Given the description of an element on the screen output the (x, y) to click on. 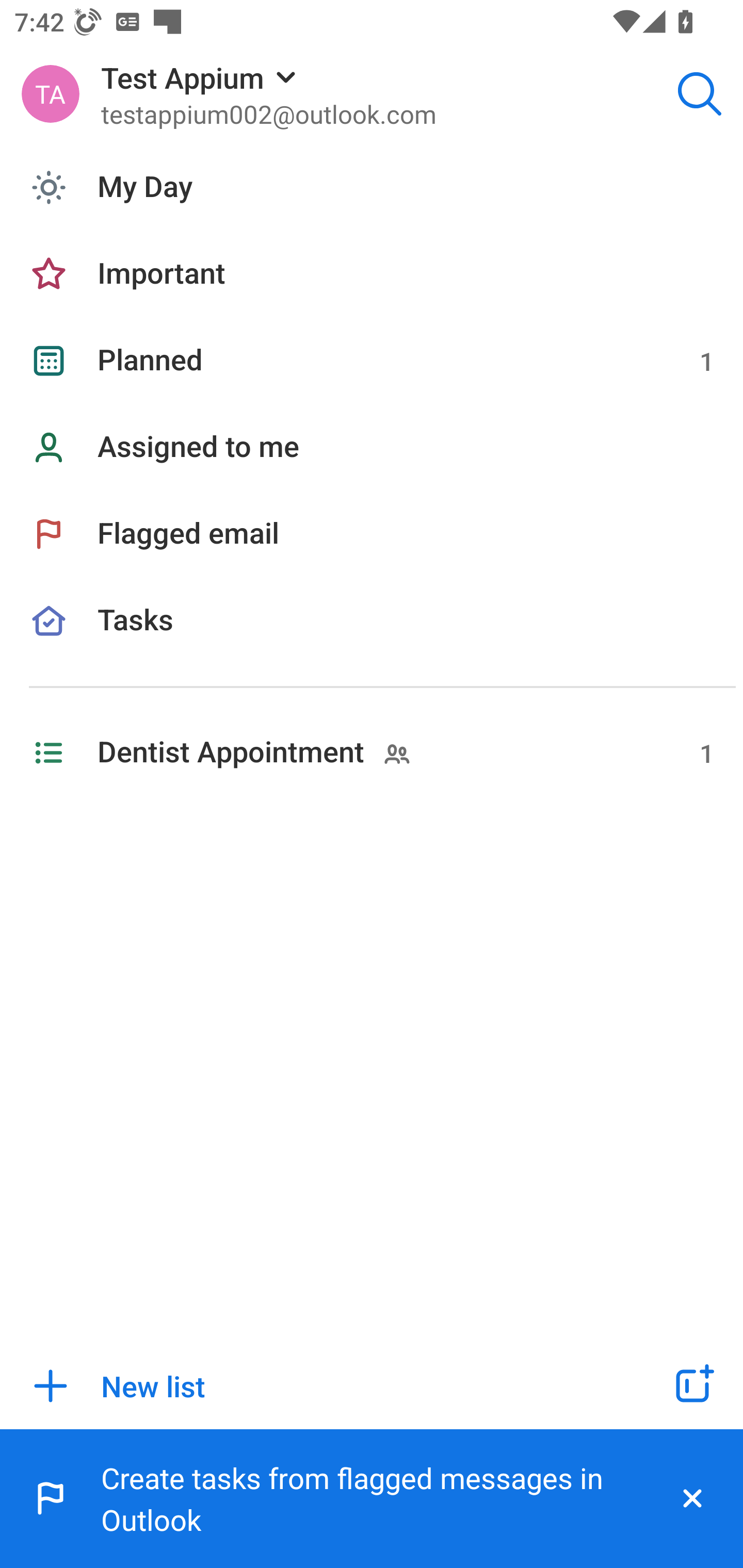
Enter search (699, 93)
My Day, 0 tasks My Day (371, 187)
Important, 0 tasks Important (371, 274)
Planned, 1 tasks Planned 1 (371, 361)
Assigned to me, 0 tasks Assigned to me (371, 447)
Flagged email (371, 533)
Tasks (371, 643)
New list (312, 1386)
Create group (692, 1386)
Close (692, 1498)
